Given the description of an element on the screen output the (x, y) to click on. 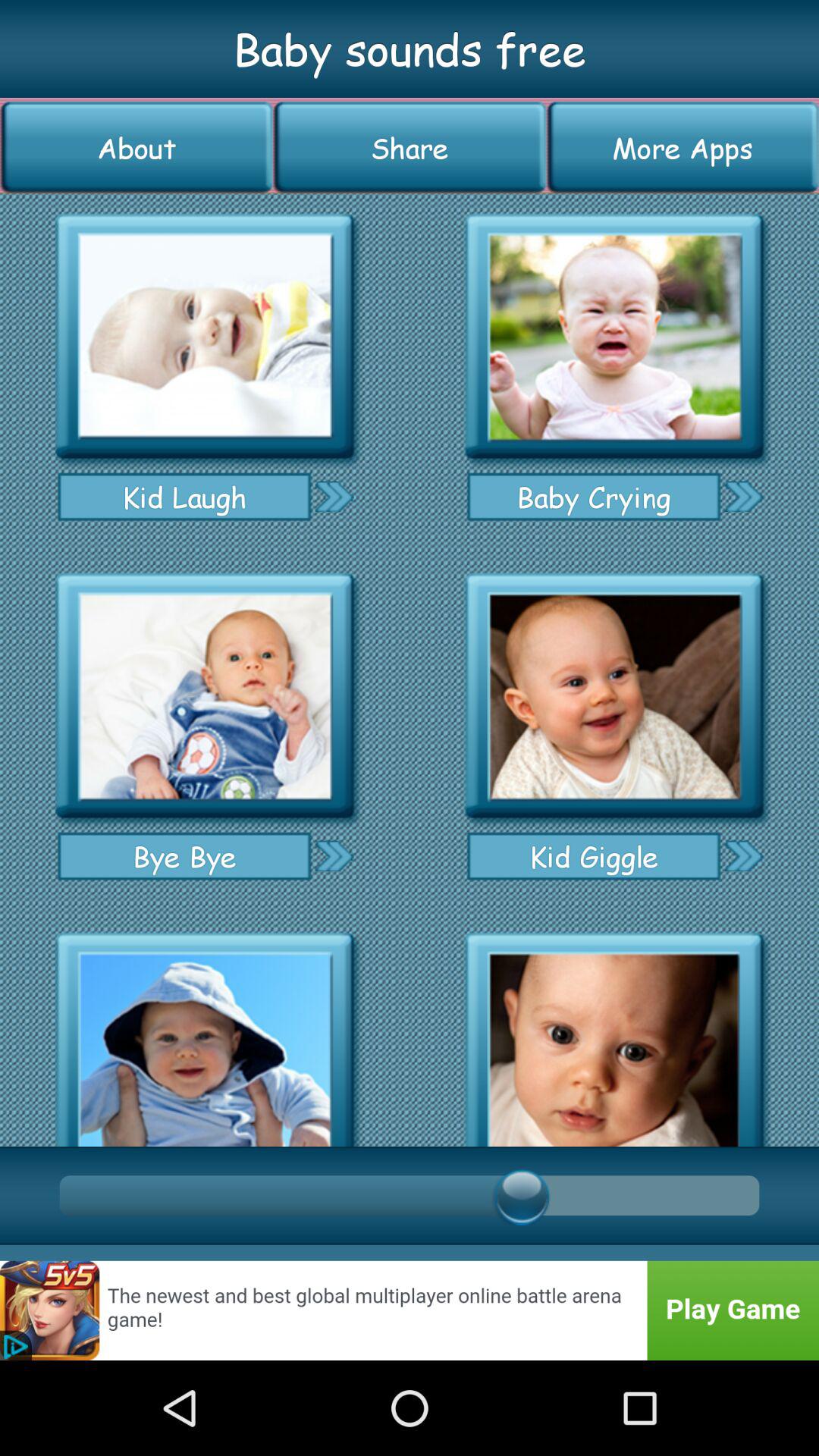
select last sound file (613, 1034)
